Given the description of an element on the screen output the (x, y) to click on. 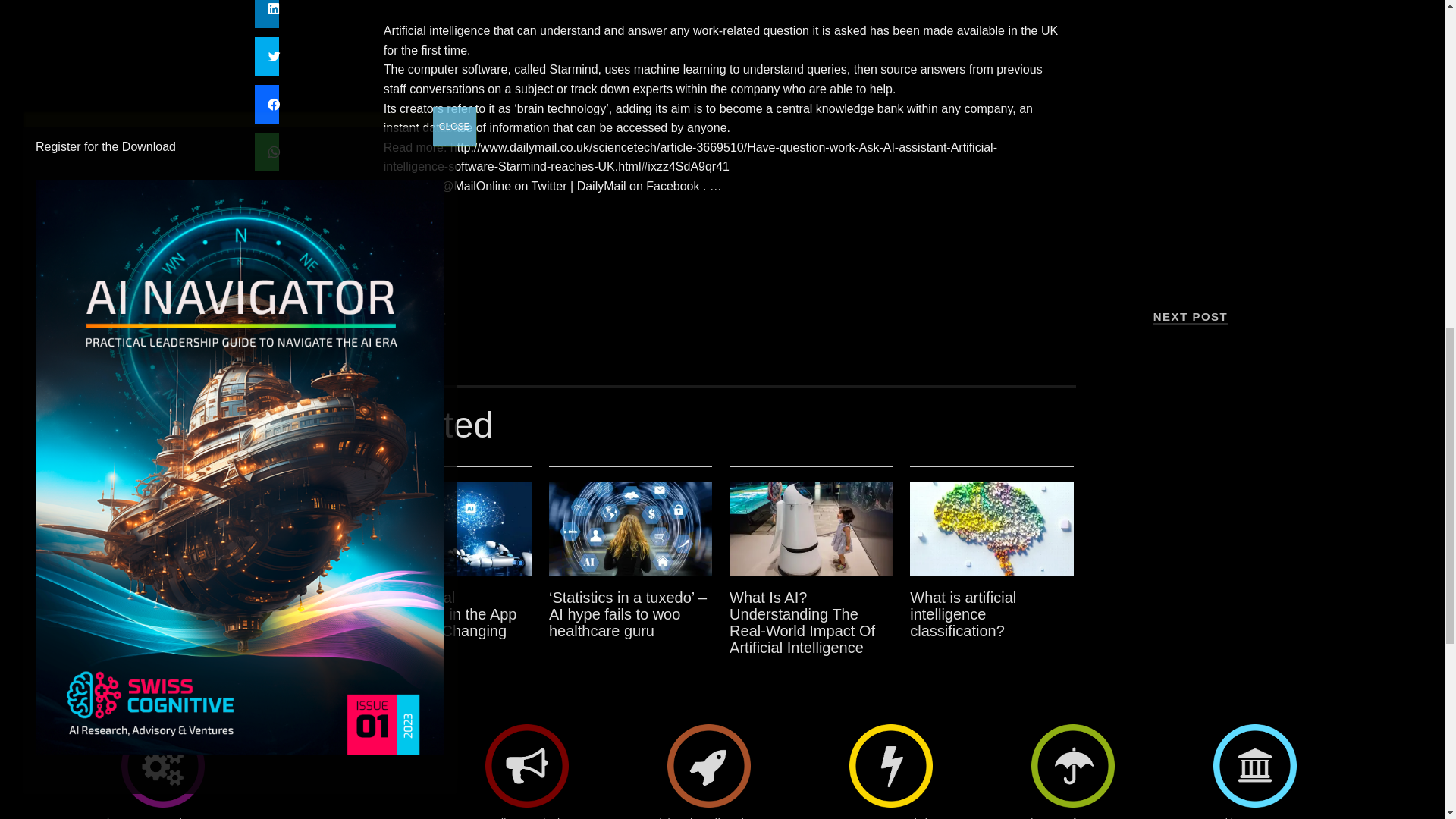
What is artificial intelligence classification? (963, 613)
What is artificial intelligence classification? (991, 528)
